Given the description of an element on the screen output the (x, y) to click on. 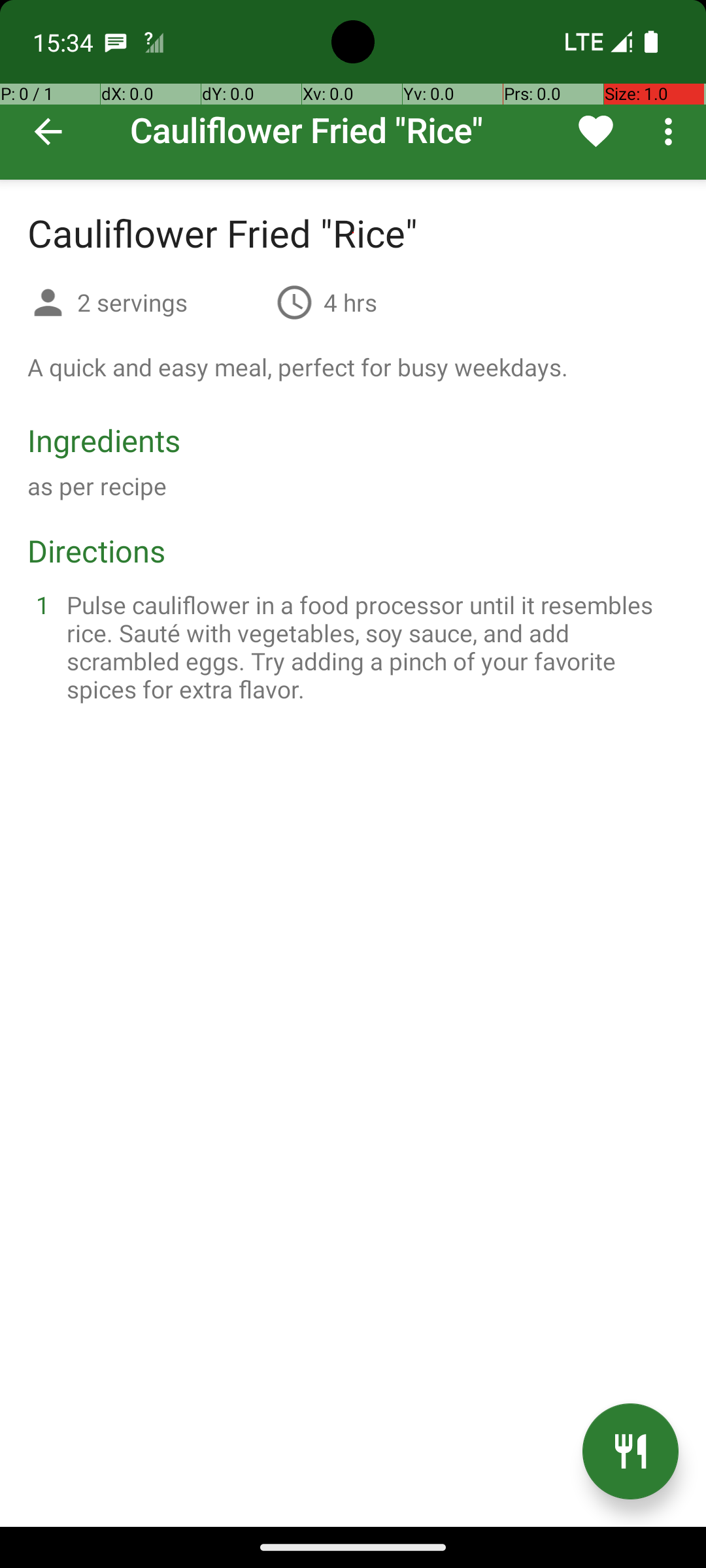
Pulse cauliflower in a food processor until it resembles rice. Sauté with vegetables, soy sauce, and add scrambled eggs. Try adding a pinch of your favorite spices for extra flavor. Element type: android.widget.TextView (368, 646)
